Given the description of an element on the screen output the (x, y) to click on. 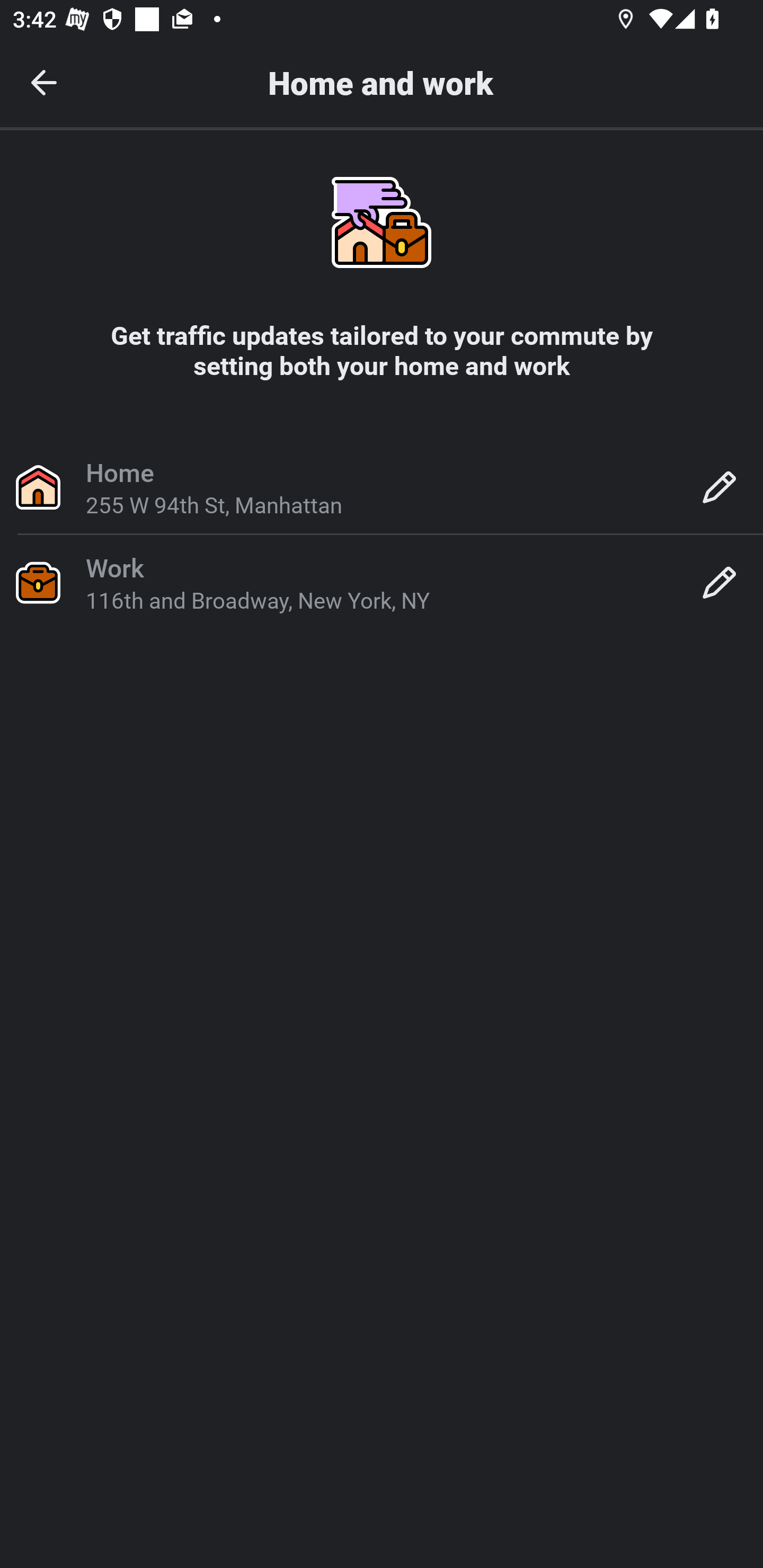
Home 255 W 94th St, Manhattan (381, 486)
Work 116th and Broadway, New York, NY (381, 582)
